Given the description of an element on the screen output the (x, y) to click on. 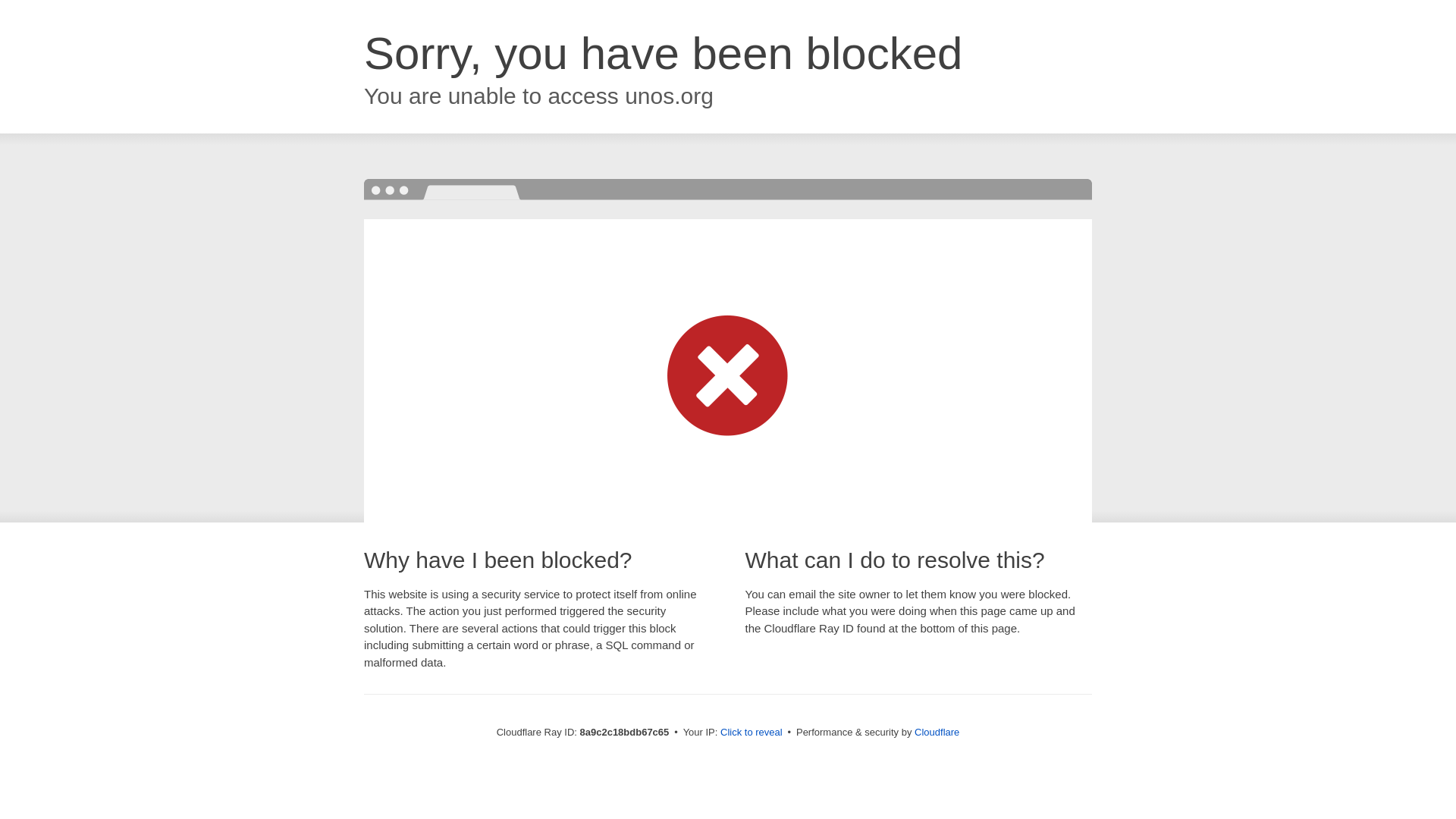
Cloudflare (936, 731)
Click to reveal (751, 732)
